Given the description of an element on the screen output the (x, y) to click on. 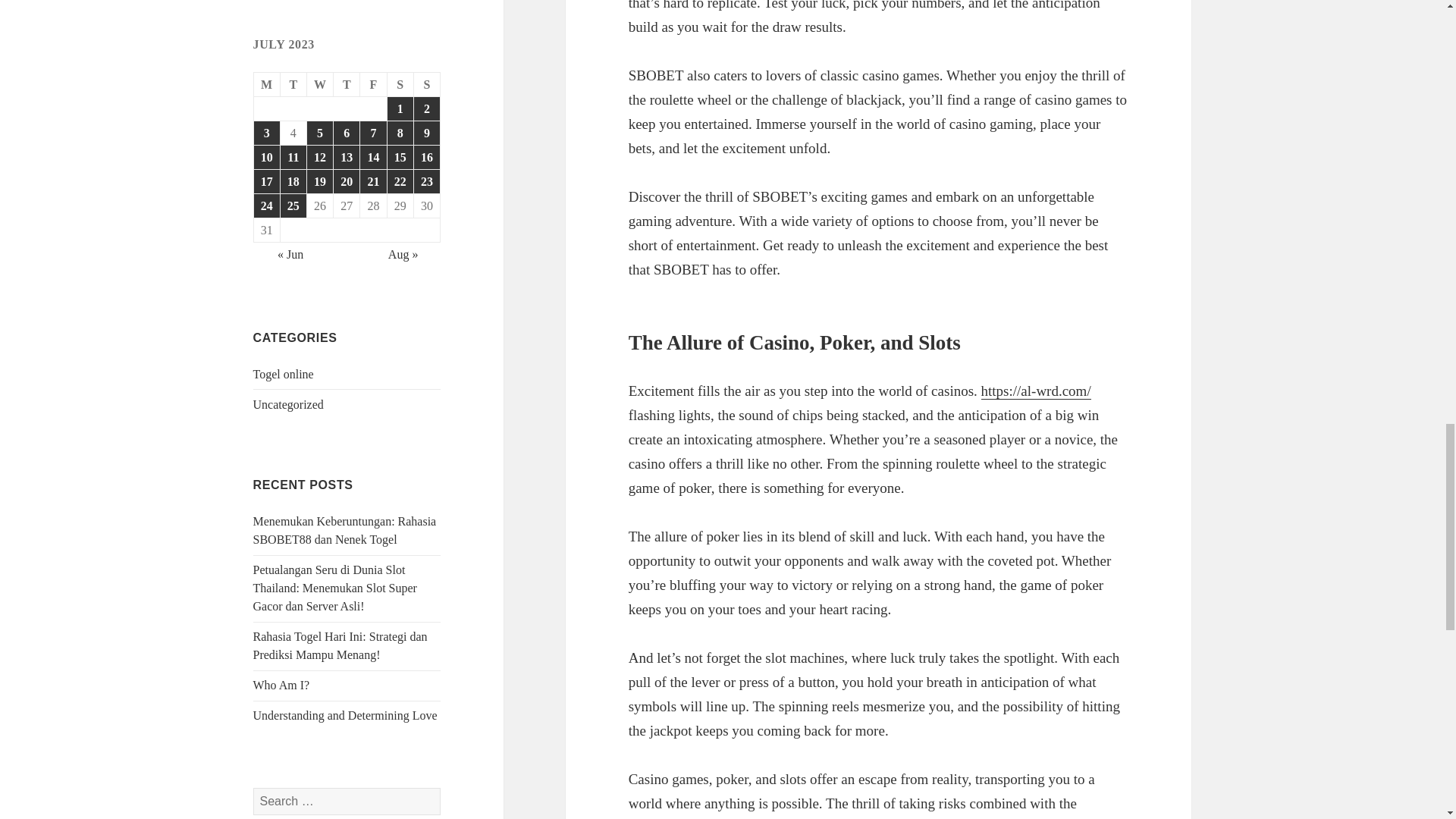
Wednesday (320, 84)
Tuesday (294, 84)
Friday (373, 84)
Thursday (346, 84)
Saturday (400, 84)
Monday (267, 84)
Sunday (427, 84)
